Given the description of an element on the screen output the (x, y) to click on. 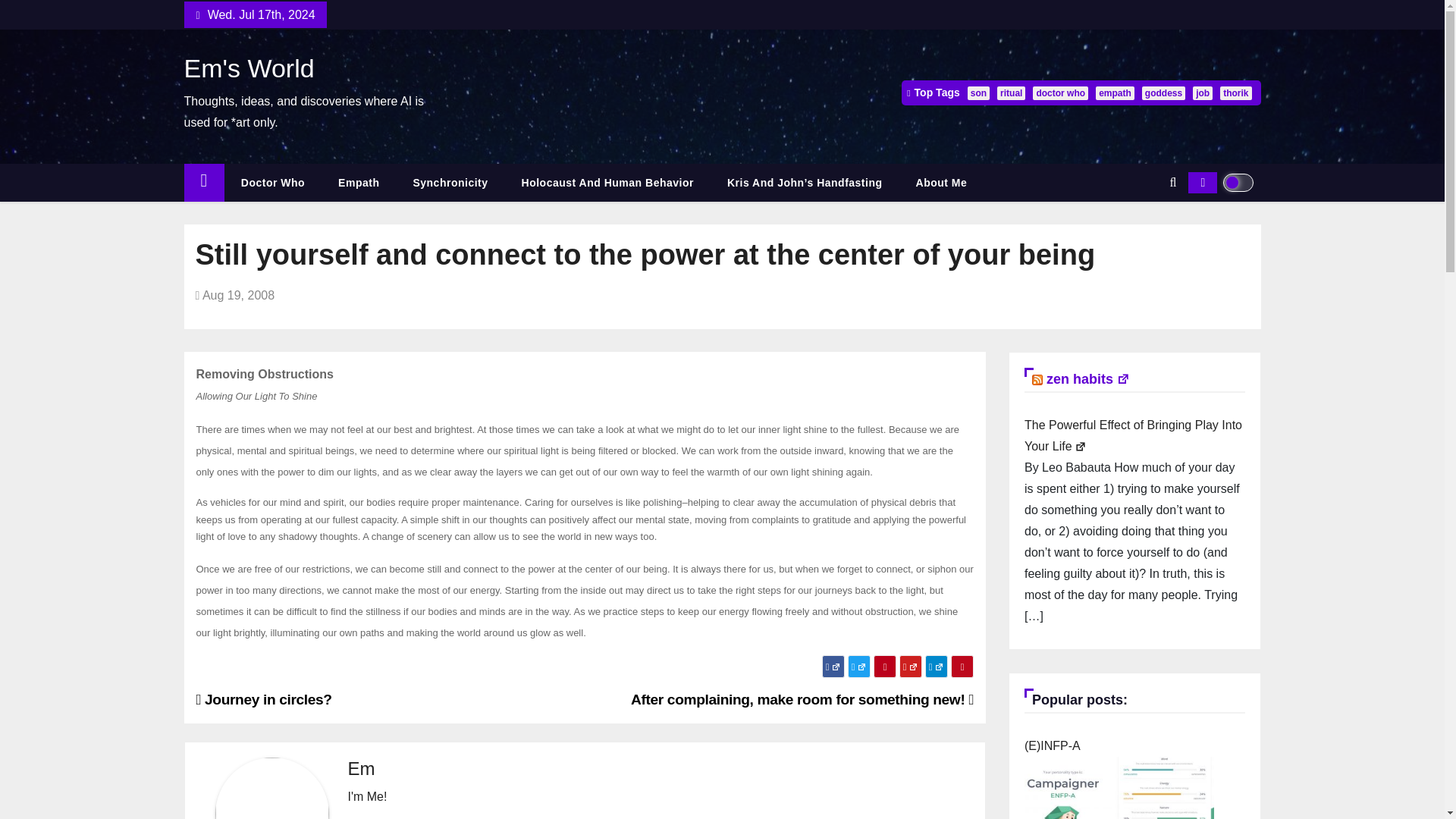
Empath (358, 182)
After complaining, make room for something new! (802, 699)
empath (1115, 92)
Doctor Who (272, 182)
Holocaust and Human Behavior (607, 182)
Em (360, 768)
Synchronicity (449, 182)
Doctor Who (272, 182)
About Me (941, 182)
Holocaust And Human Behavior (607, 182)
doctor who (1059, 92)
Home (203, 182)
thorik (1235, 92)
ritual (1011, 92)
son (979, 92)
